Given the description of an element on the screen output the (x, y) to click on. 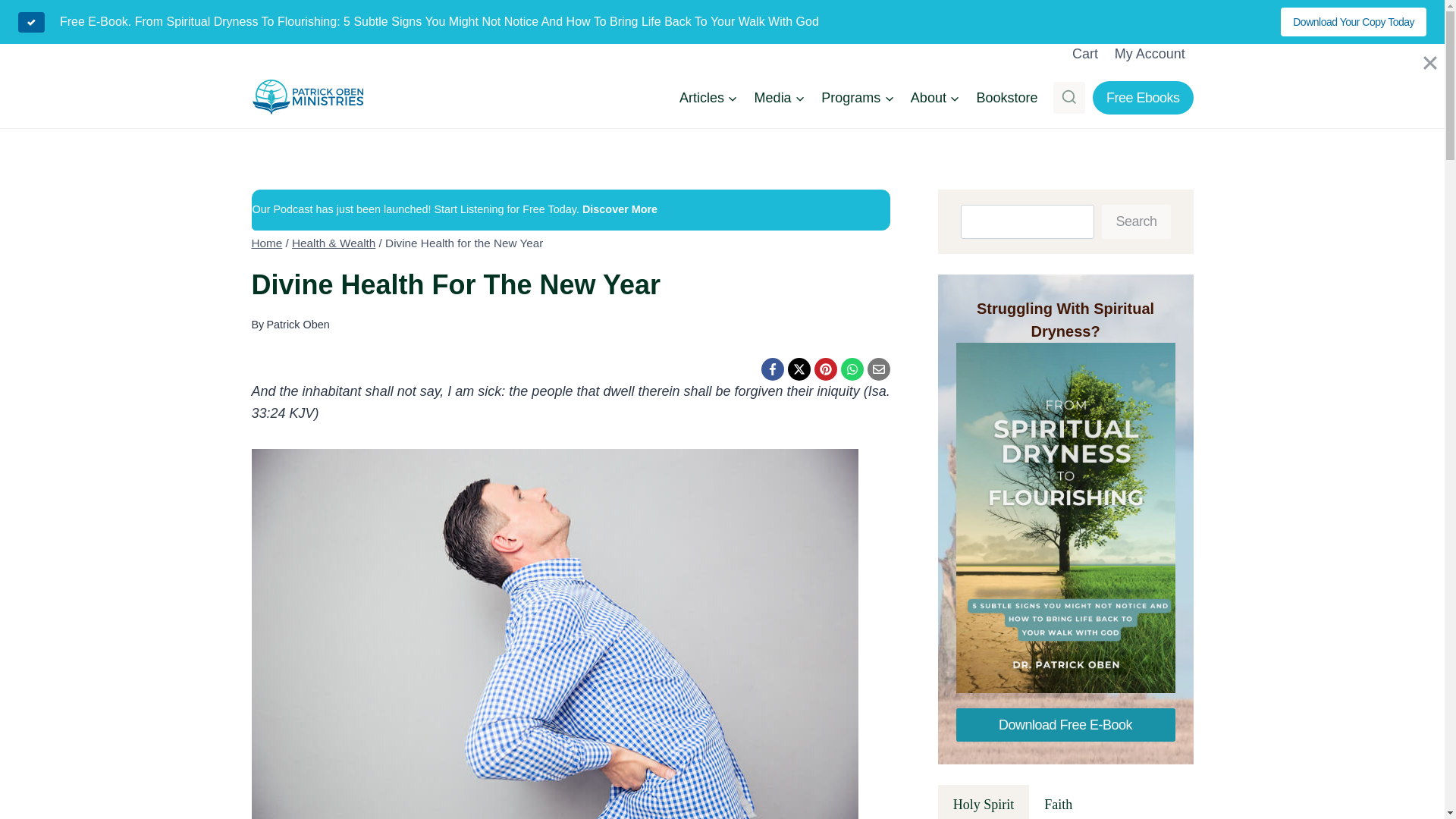
Programs (857, 97)
About (935, 97)
Patrick Oben (297, 324)
My Account (1149, 53)
Articles (708, 97)
Bookstore (1007, 97)
Podcast (677, 209)
Media (779, 97)
Free Ebooks (1143, 97)
Home (266, 242)
Cart (1085, 53)
